Given the description of an element on the screen output the (x, y) to click on. 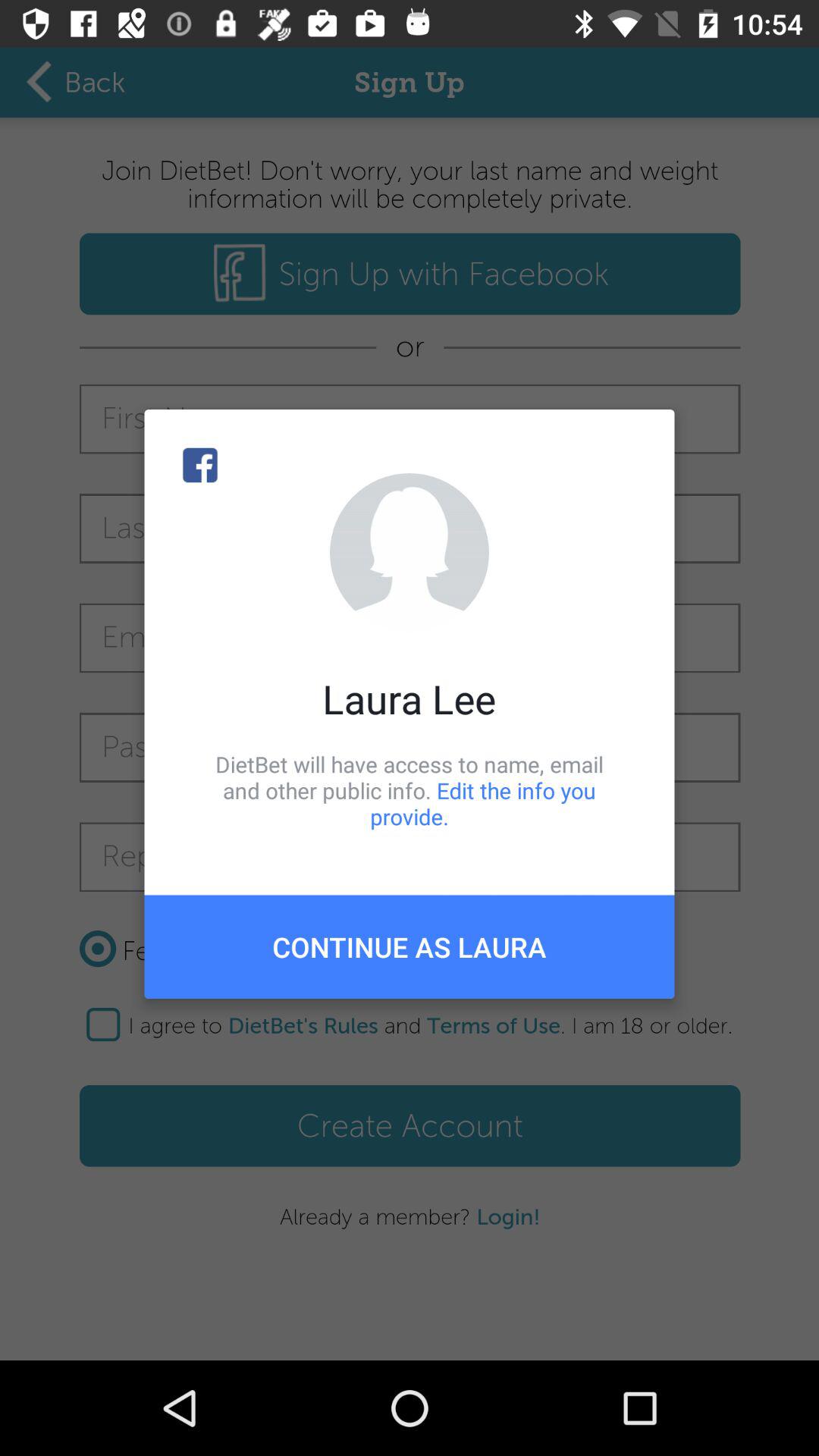
choose the dietbet will have item (409, 790)
